Given the description of an element on the screen output the (x, y) to click on. 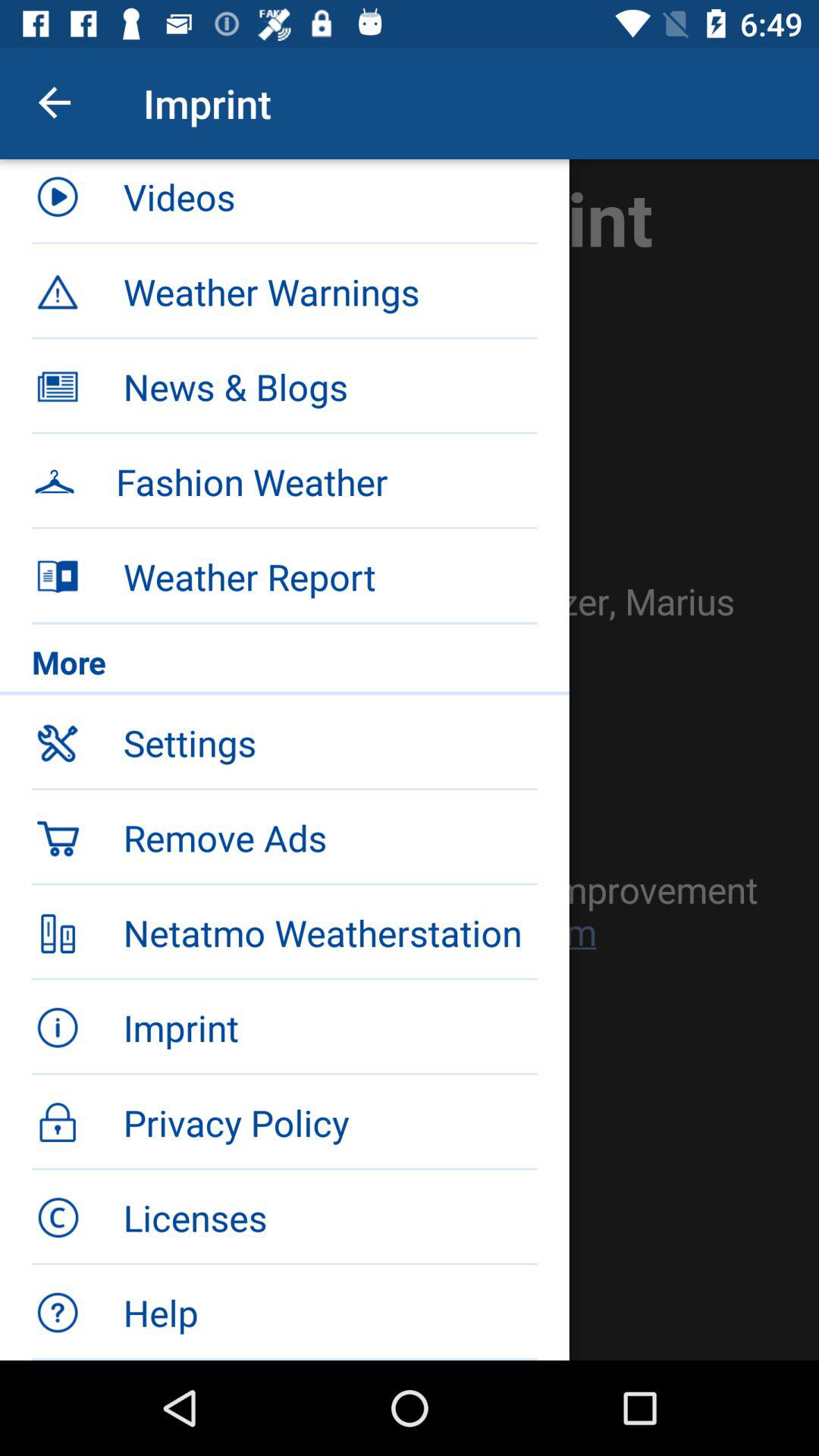
tap remove ads item (330, 837)
